Given the description of an element on the screen output the (x, y) to click on. 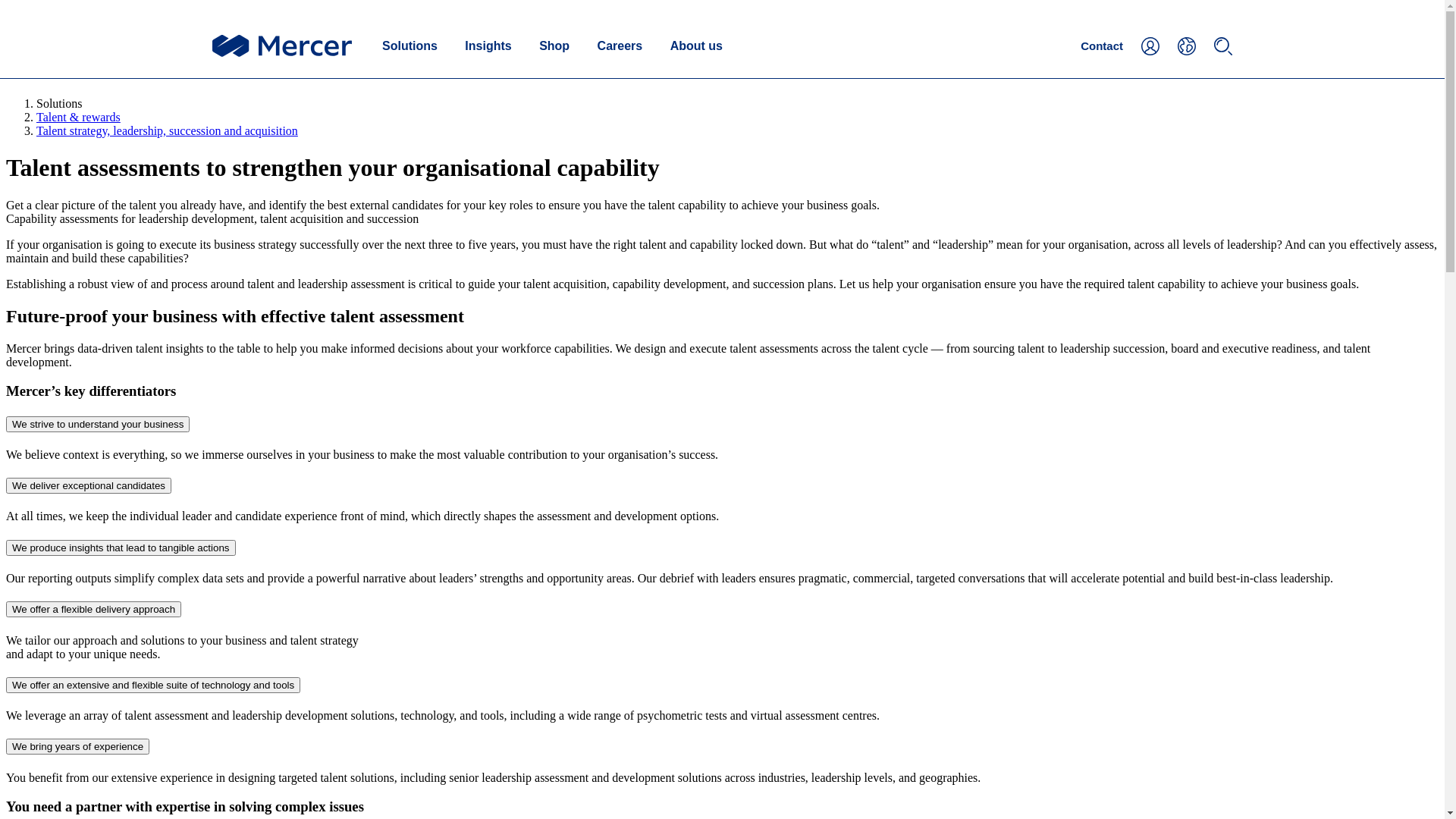
We strive to understand your business Element type: text (97, 424)
We offer a flexible delivery approach Element type: text (93, 609)
Skip to main content Element type: text (18, 9)
Talent & rewards Element type: text (78, 116)
Careers Element type: text (620, 45)
Mercer Element type: hover (281, 45)
We bring years of experience Element type: text (77, 746)
We produce insights that lead to tangible actions Element type: text (120, 547)
We deliver exceptional candidates Element type: text (88, 485)
Insights Element type: text (487, 45)
Solutions Element type: text (409, 45)
Talent strategy, leadership, succession and acquisition Element type: text (167, 130)
About us Element type: text (696, 45)
Contact Element type: text (1101, 45)
Shop Element type: text (554, 45)
